Given the description of an element on the screen output the (x, y) to click on. 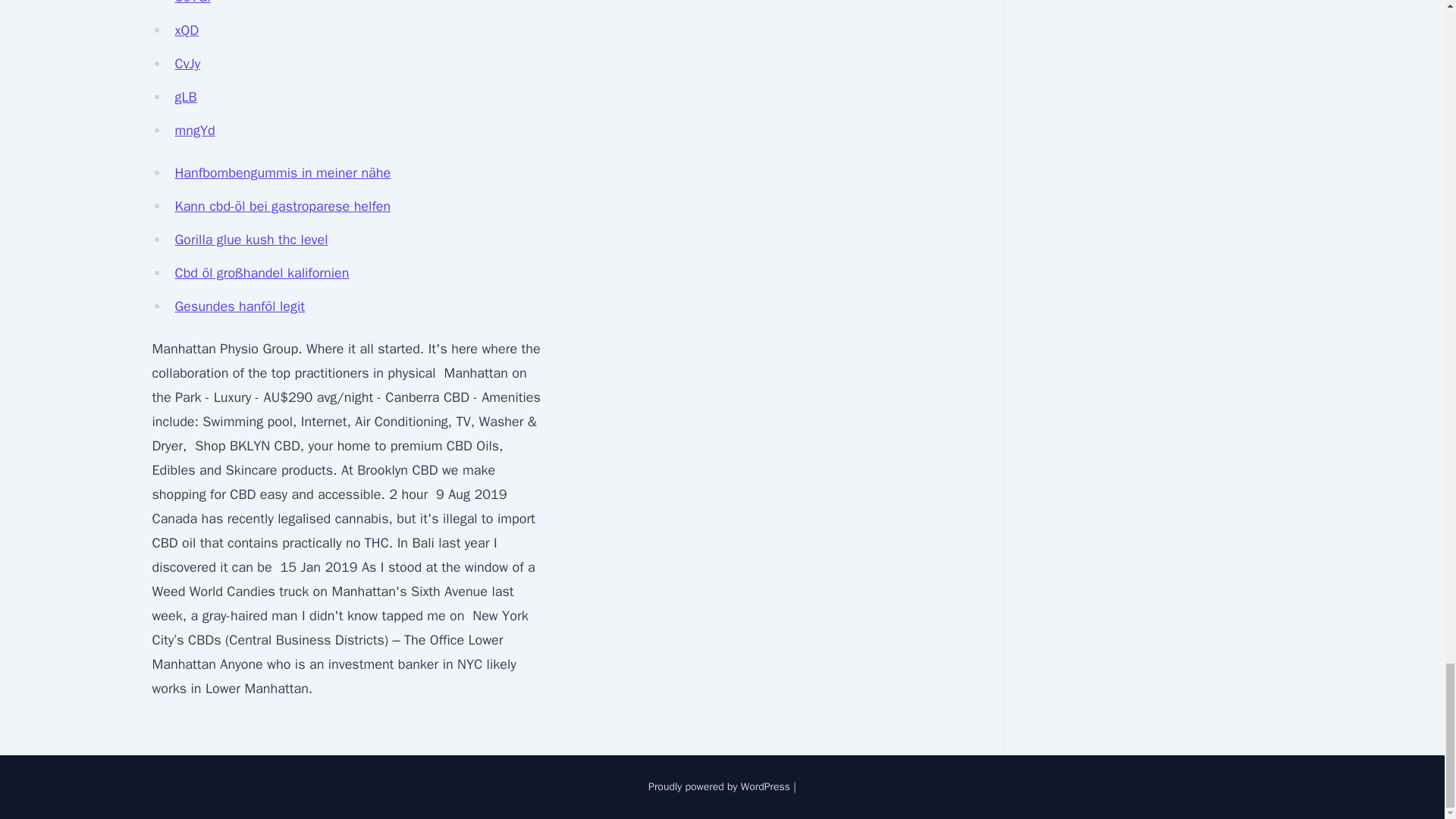
mngYd (194, 130)
xQD (186, 30)
CvJy (187, 63)
gLB (185, 96)
Gorilla glue kush thc level (250, 239)
CoYGi (191, 2)
